Given the description of an element on the screen output the (x, y) to click on. 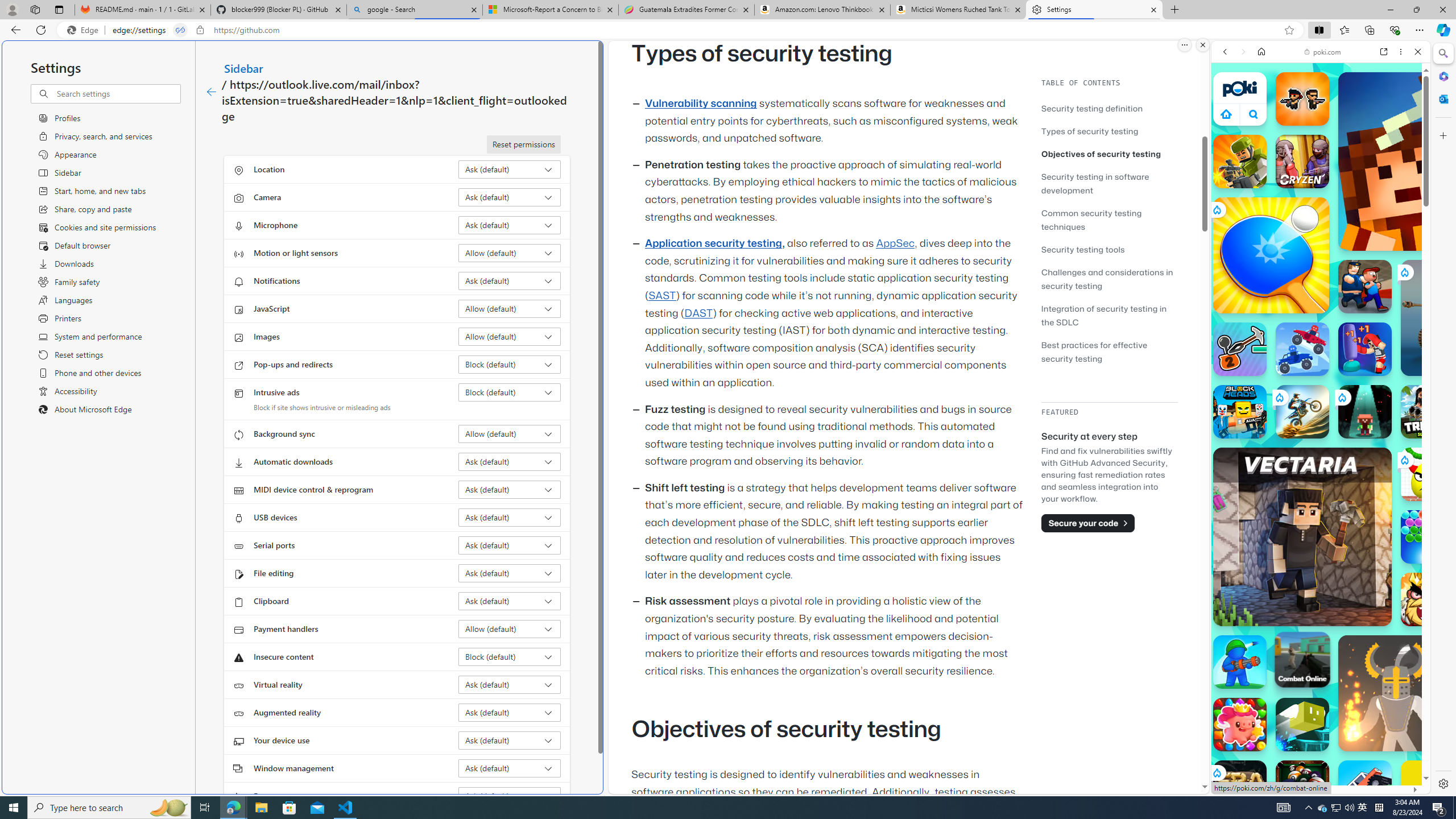
Integration of security testing in the SDLC (1104, 314)
Challenges and considerations in security testing (1109, 279)
Stunt Bike Extreme (1302, 411)
BombHopper.io BombHopper.io (1302, 724)
Punch Legend Simulator Punch Legend Simulator (1364, 348)
Edge (84, 29)
Ragdoll Hit Ragdoll Hit (1396, 693)
Match Arena Match Arena (1239, 724)
Sidebar (243, 67)
